Given the description of an element on the screen output the (x, y) to click on. 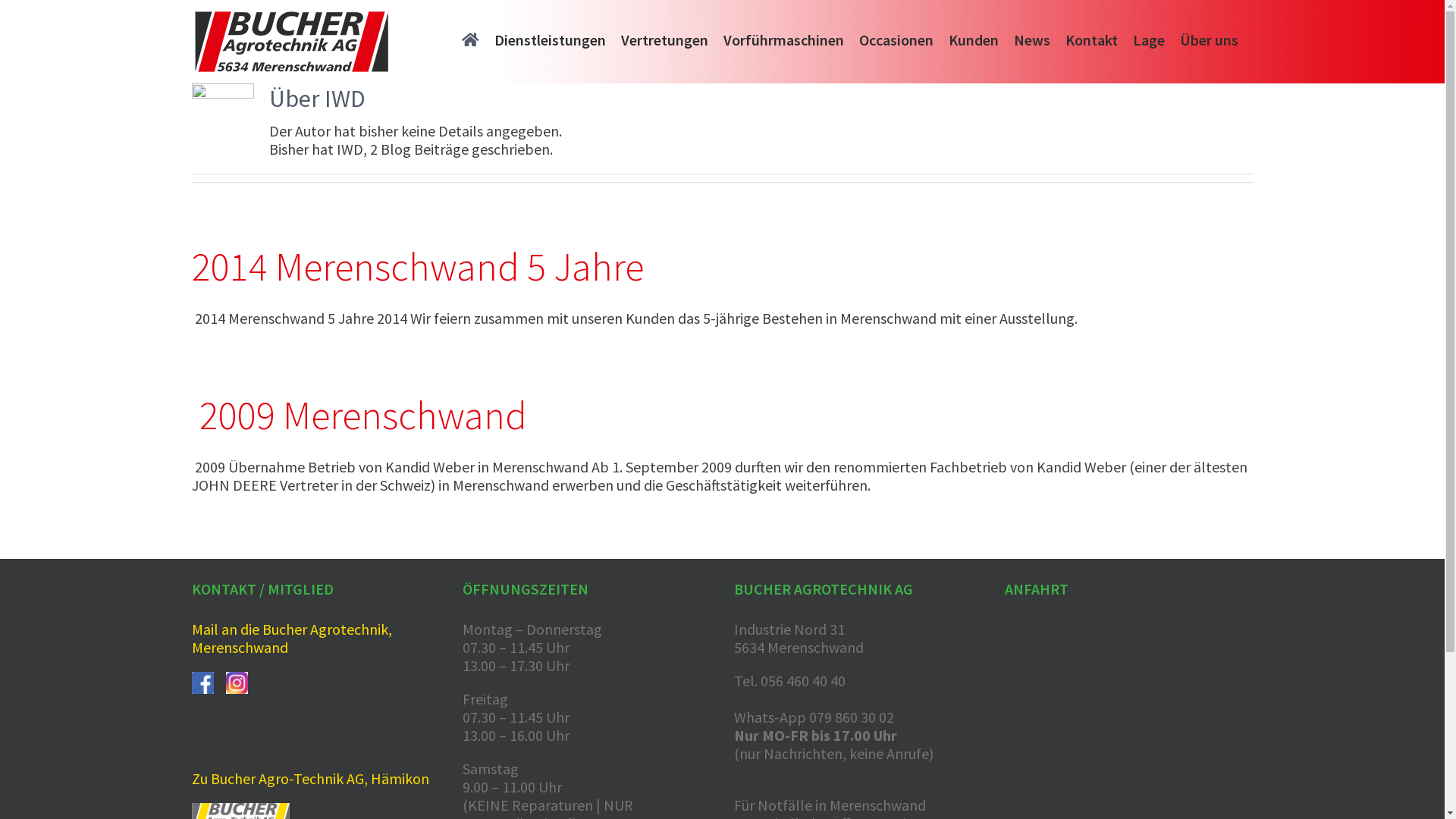
Mail an die Bucher Agrotechnik, Merenschwand Element type: text (291, 637)
Occasionen Element type: text (895, 37)
Kunden Element type: text (972, 37)
News Element type: text (1031, 37)
Vertretungen Element type: text (663, 37)
Kontakt Element type: text (1090, 37)
Dienstleistungen Element type: text (549, 37)
 2009 Merenschwand Element type: text (358, 414)
Lage Element type: text (1148, 37)
   Element type: text (220, 680)
2014 Merenschwand 5 Jahre Element type: text (417, 266)
